Given the description of an element on the screen output the (x, y) to click on. 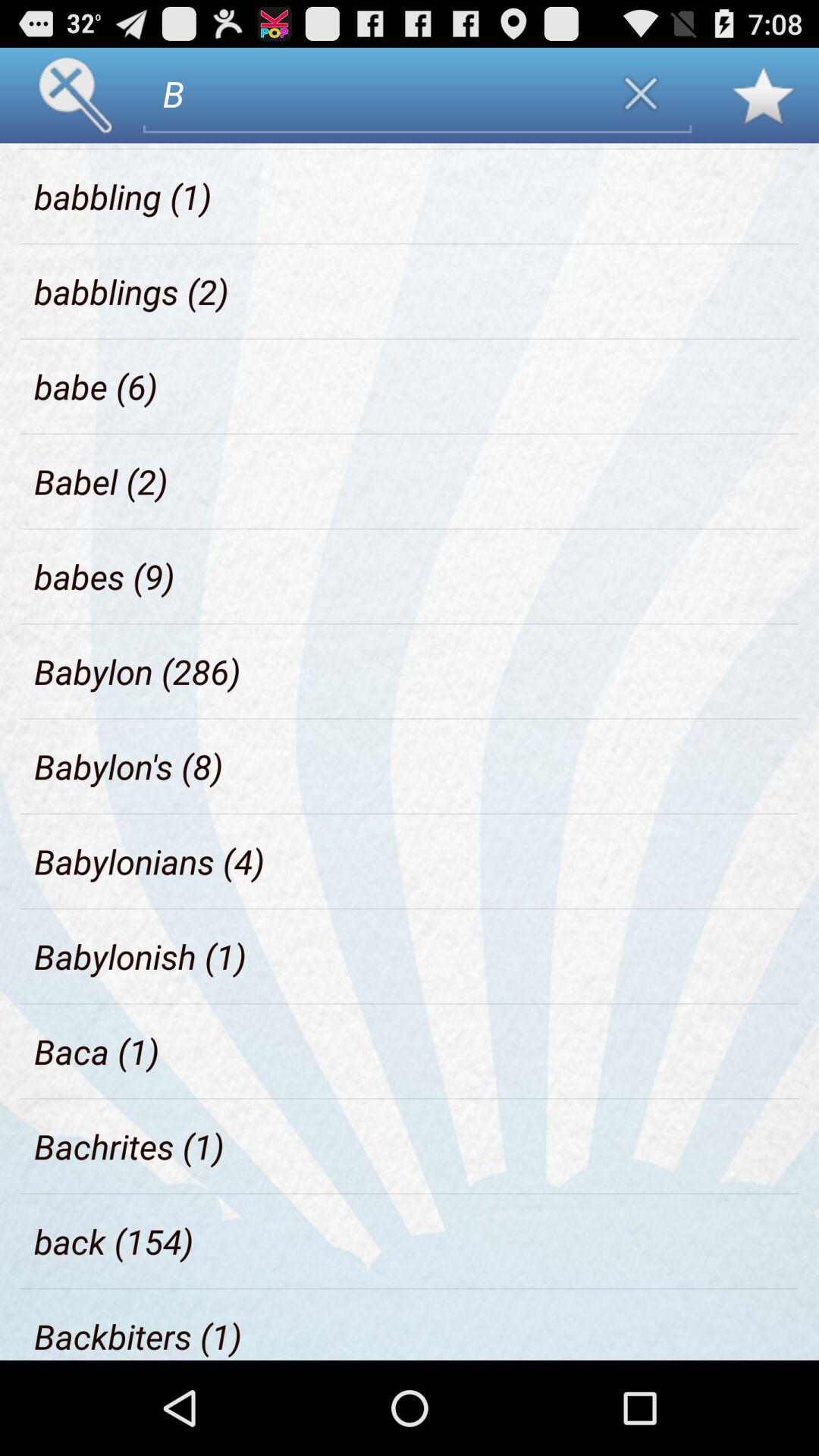
turn on item above babbling (1) icon (108, 145)
